Given the description of an element on the screen output the (x, y) to click on. 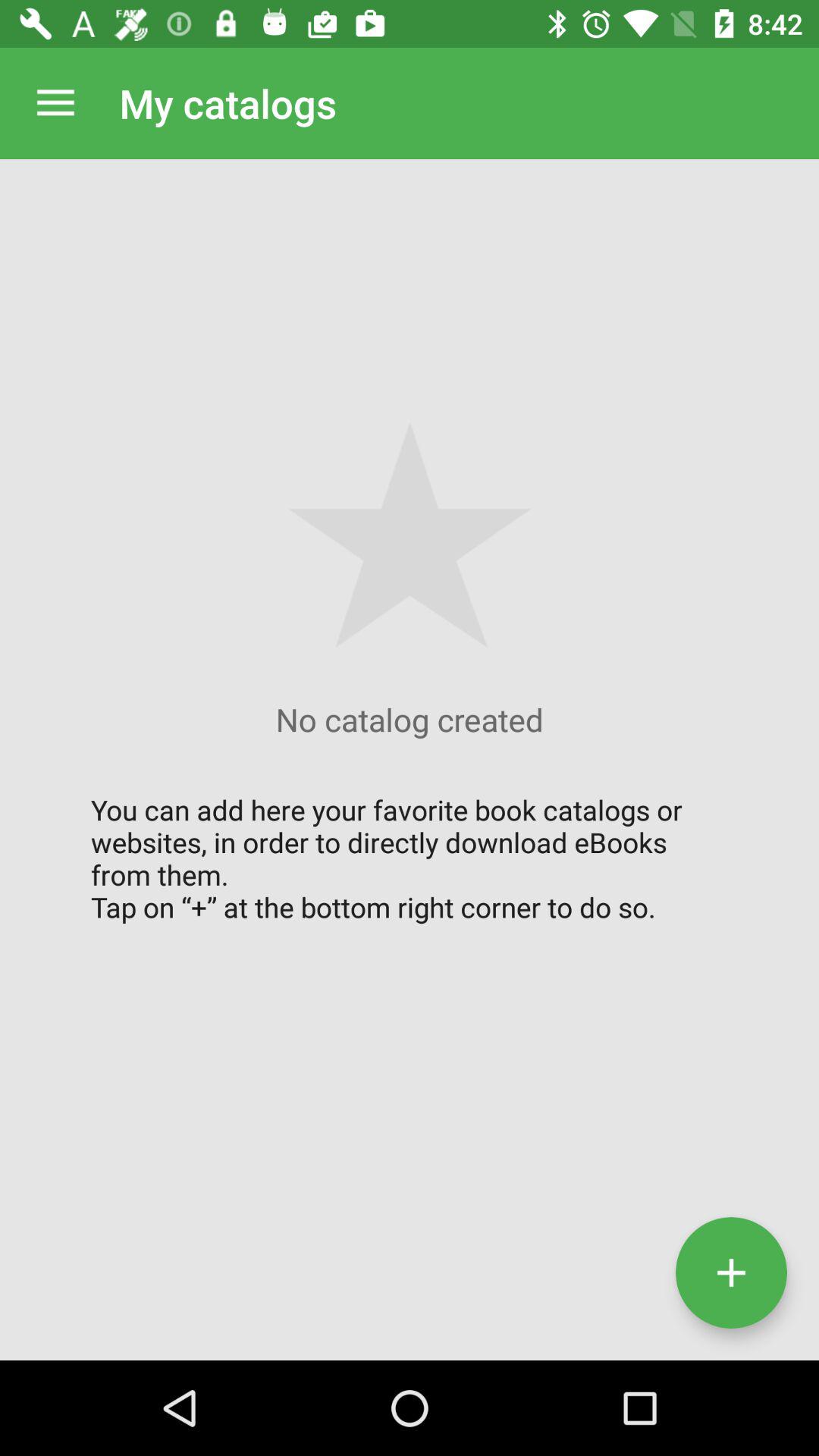
add a favorite (731, 1272)
